Given the description of an element on the screen output the (x, y) to click on. 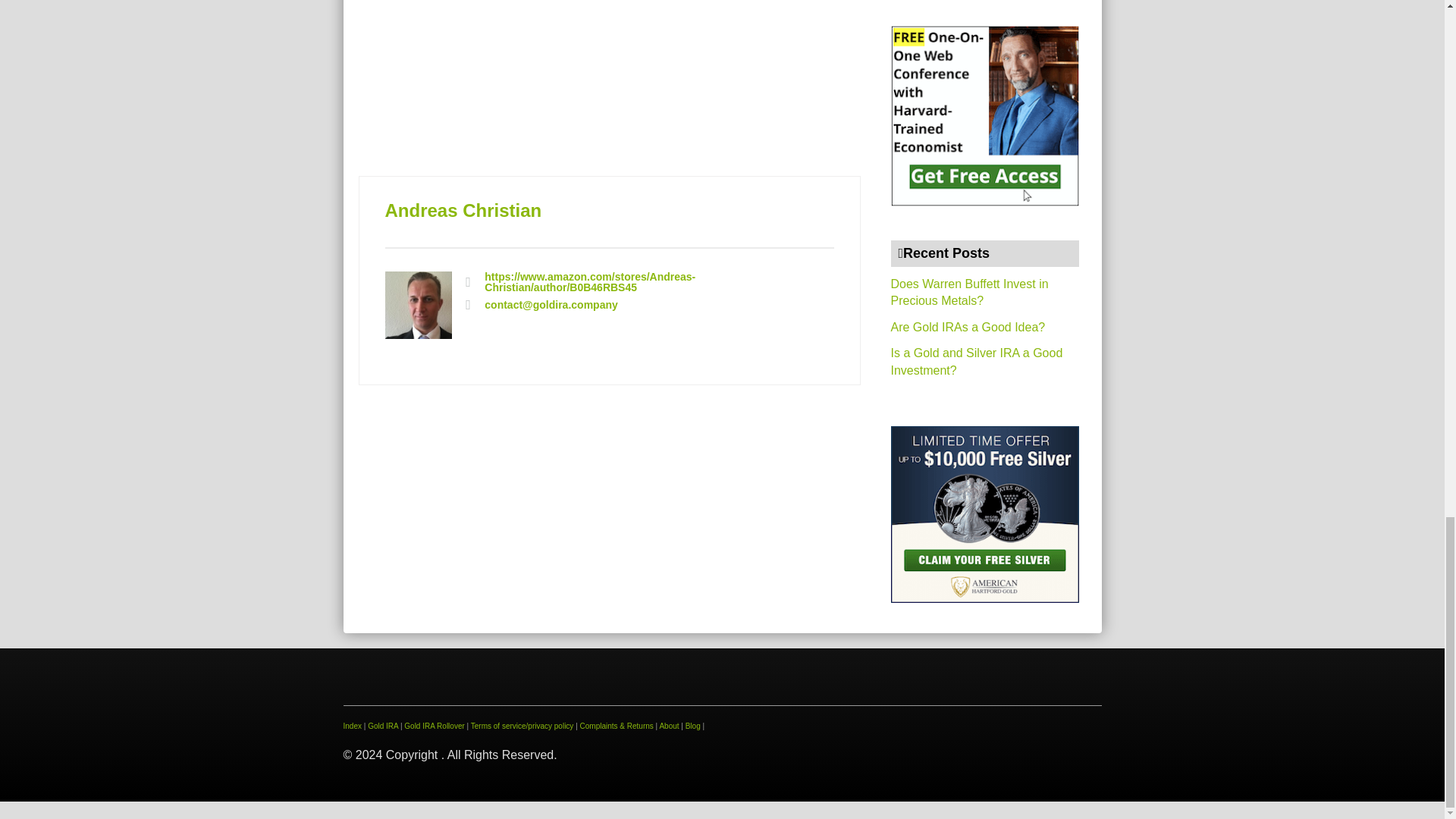
Are Gold IRAs a Good Idea? (967, 327)
Gold IRA Rollover (434, 725)
Andreas Christian (463, 209)
Gold IRA (382, 725)
Blog (692, 725)
Does Warren Buffett Invest in Precious Metals? (968, 292)
Index (351, 725)
About (668, 725)
Is a Gold and Silver IRA a Good Investment? (975, 360)
